Given the description of an element on the screen output the (x, y) to click on. 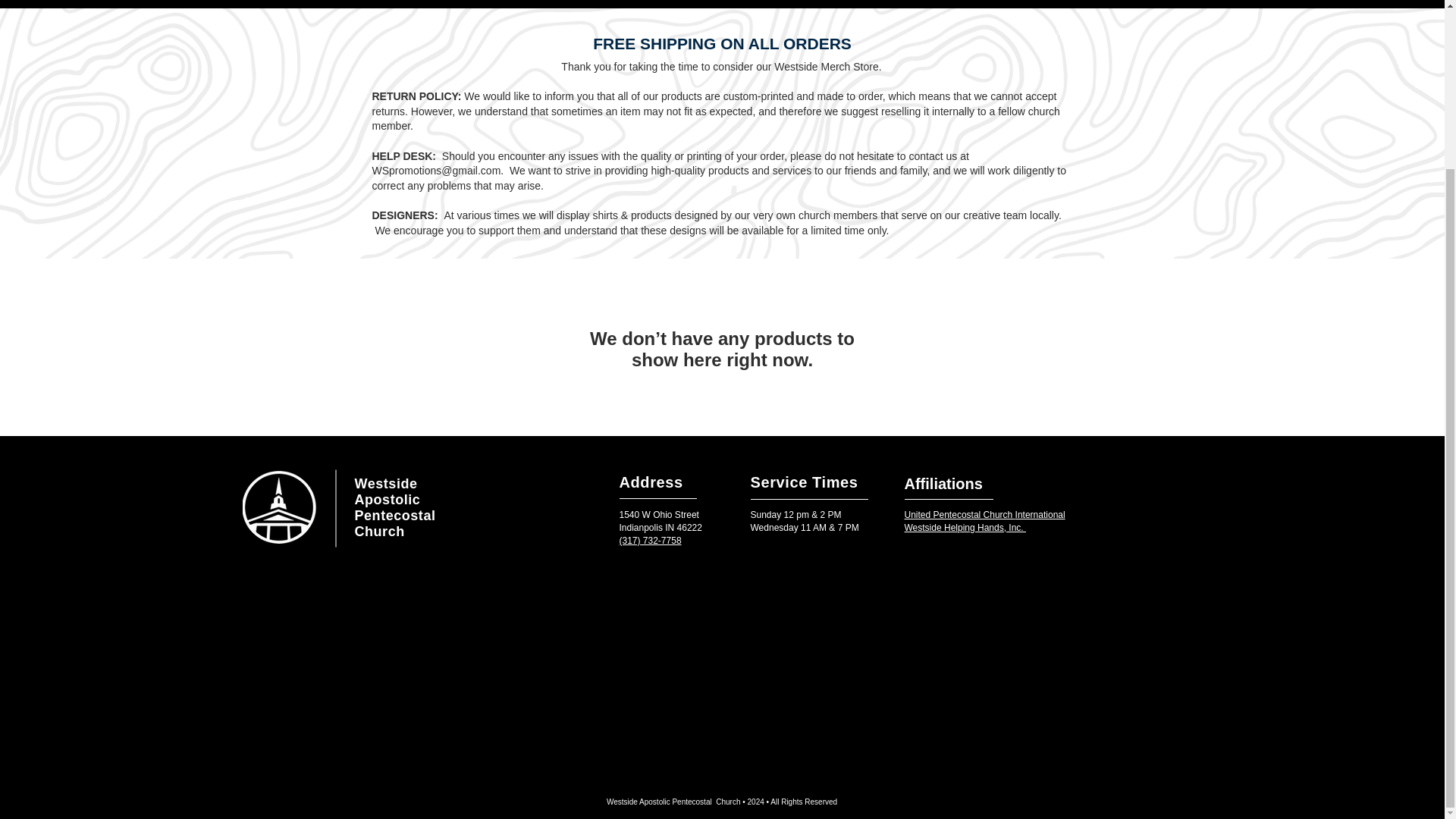
United Pentecostal Church International (984, 514)
Westside Helping Hands, Inc.  (965, 527)
